Given the description of an element on the screen output the (x, y) to click on. 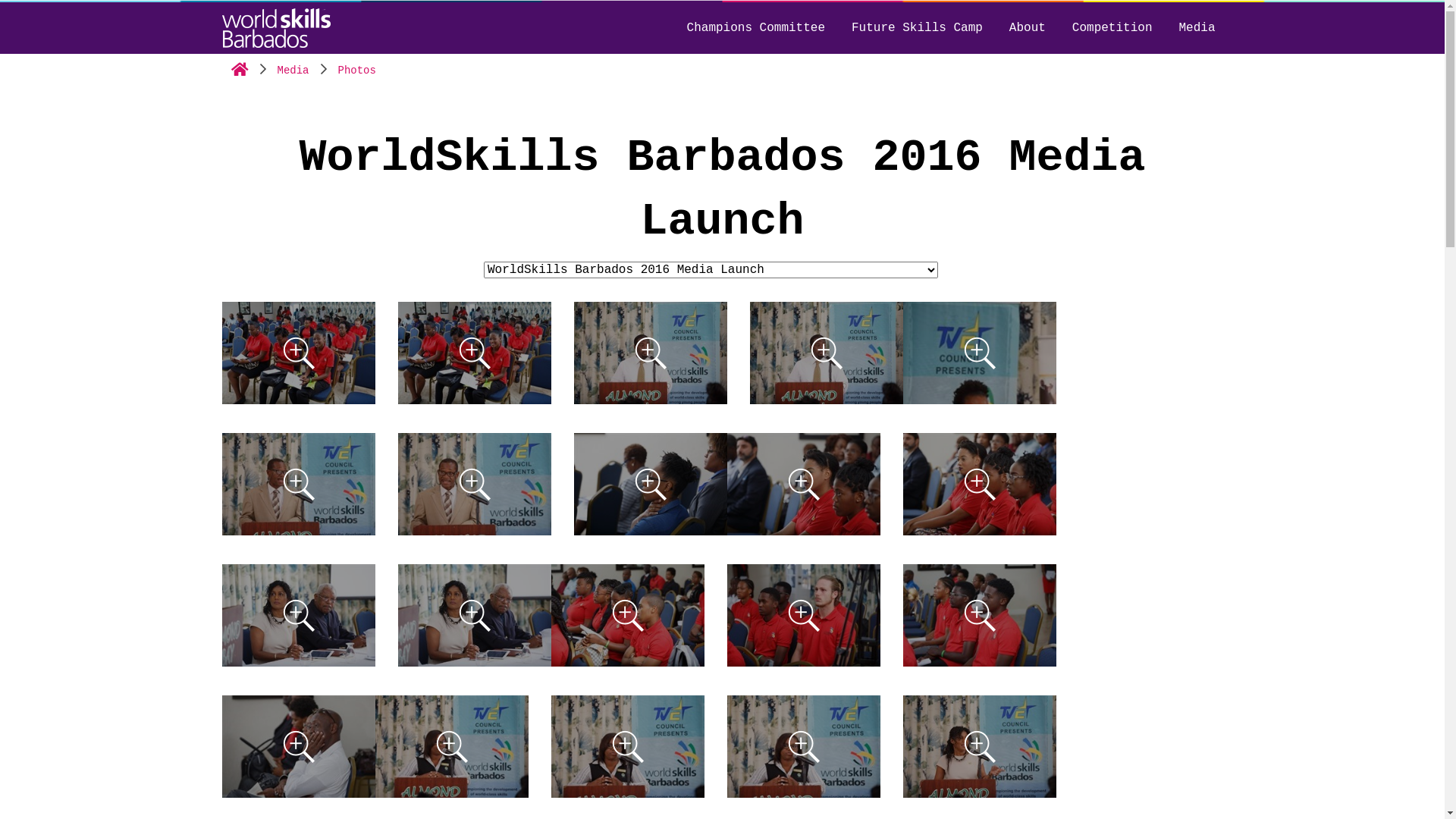
Media Element type: text (1196, 27)
Future Skills Camp Element type: text (917, 27)
About Element type: text (1027, 27)
Competition Element type: text (1112, 27)
Photos Element type: text (356, 70)
Media Element type: text (292, 70)
Champions Committee Element type: text (755, 27)
